Given the description of an element on the screen output the (x, y) to click on. 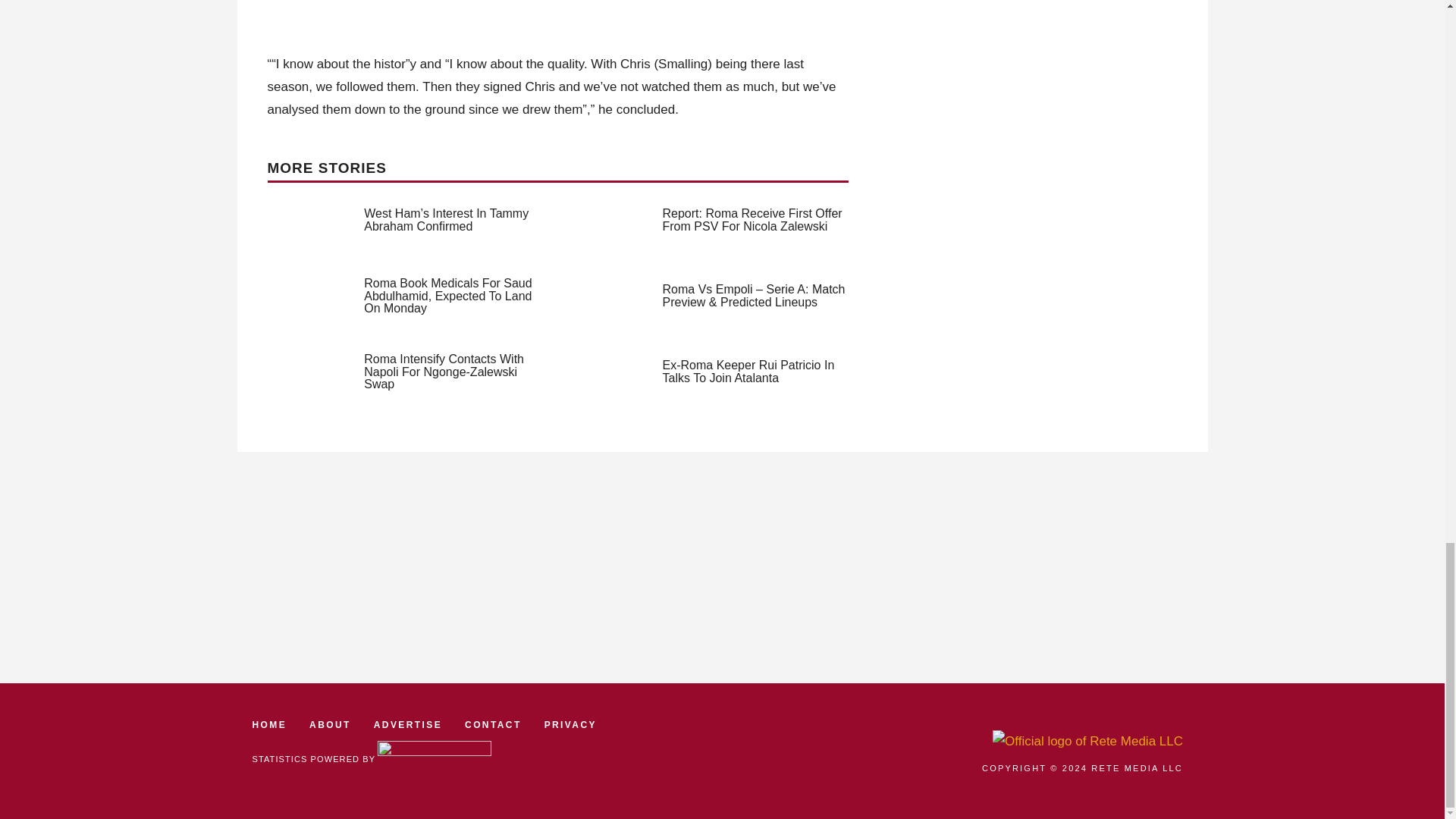
PRIVACY (570, 725)
ADVERTISE (408, 725)
Ex-Roma Keeper Rui Patricio In Talks To Join Atalanta (748, 371)
HOME (268, 725)
CONTACT (492, 725)
Roma Intensify Contacts With Napoli For Ngonge-Zalewski Swap (444, 371)
ABOUT (329, 725)
